Given the description of an element on the screen output the (x, y) to click on. 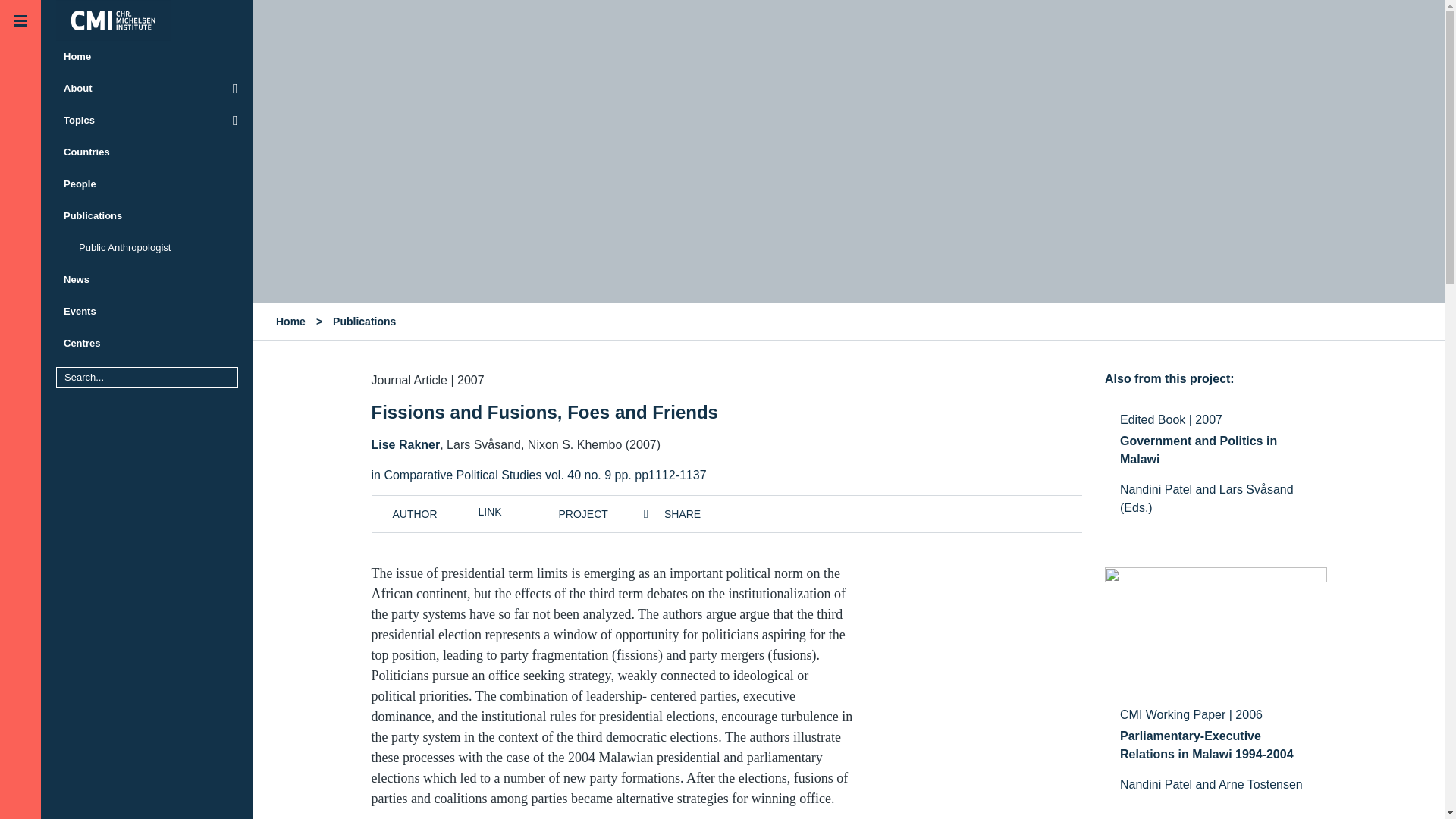
Home (146, 56)
About (146, 88)
Publications (146, 215)
LINK (487, 511)
Publications (364, 321)
AUTHOR (404, 513)
Public Anthropologist (146, 247)
Home (290, 321)
